Given the description of an element on the screen output the (x, y) to click on. 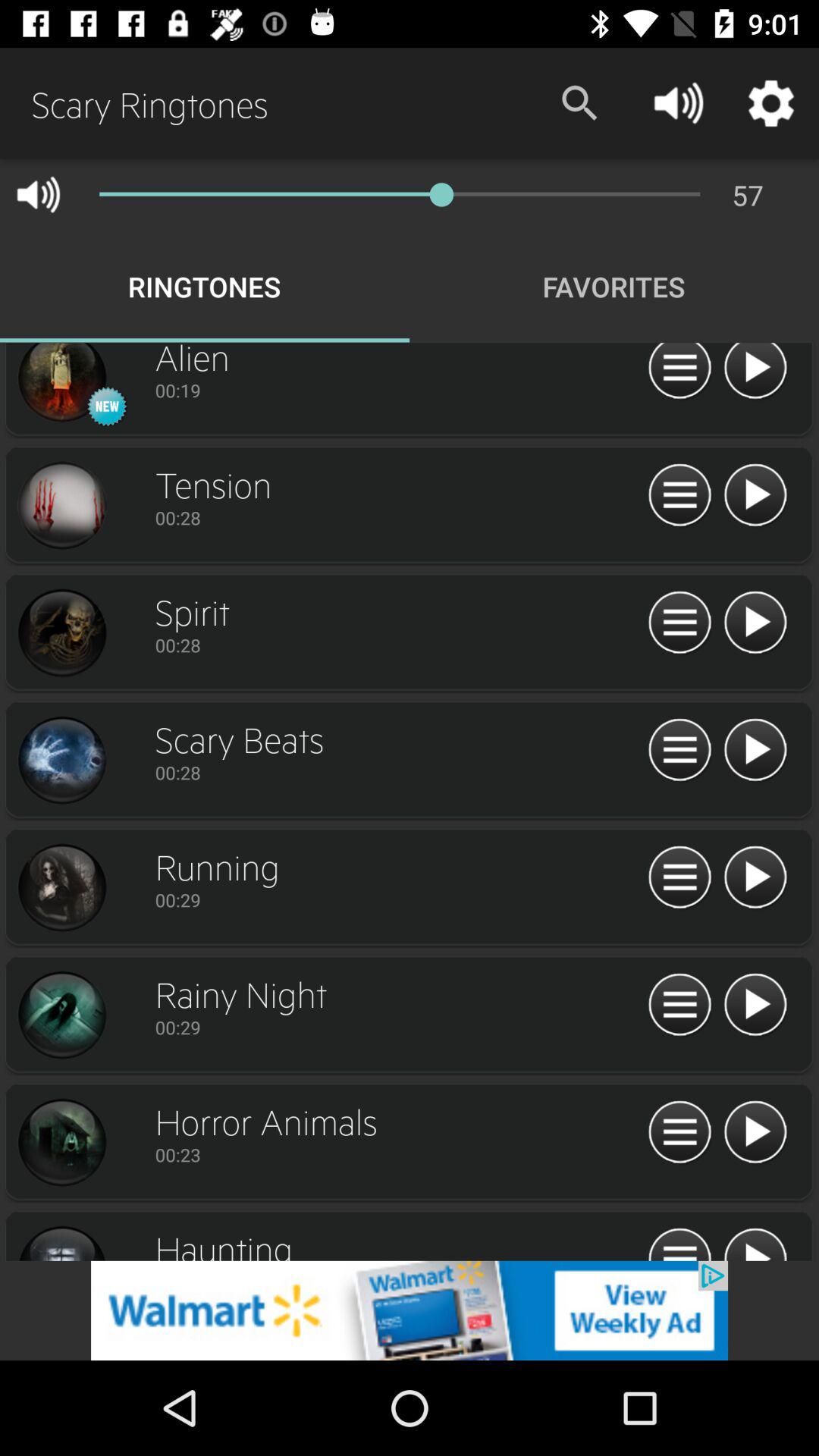
plays the ringtone (755, 877)
